Given the description of an element on the screen output the (x, y) to click on. 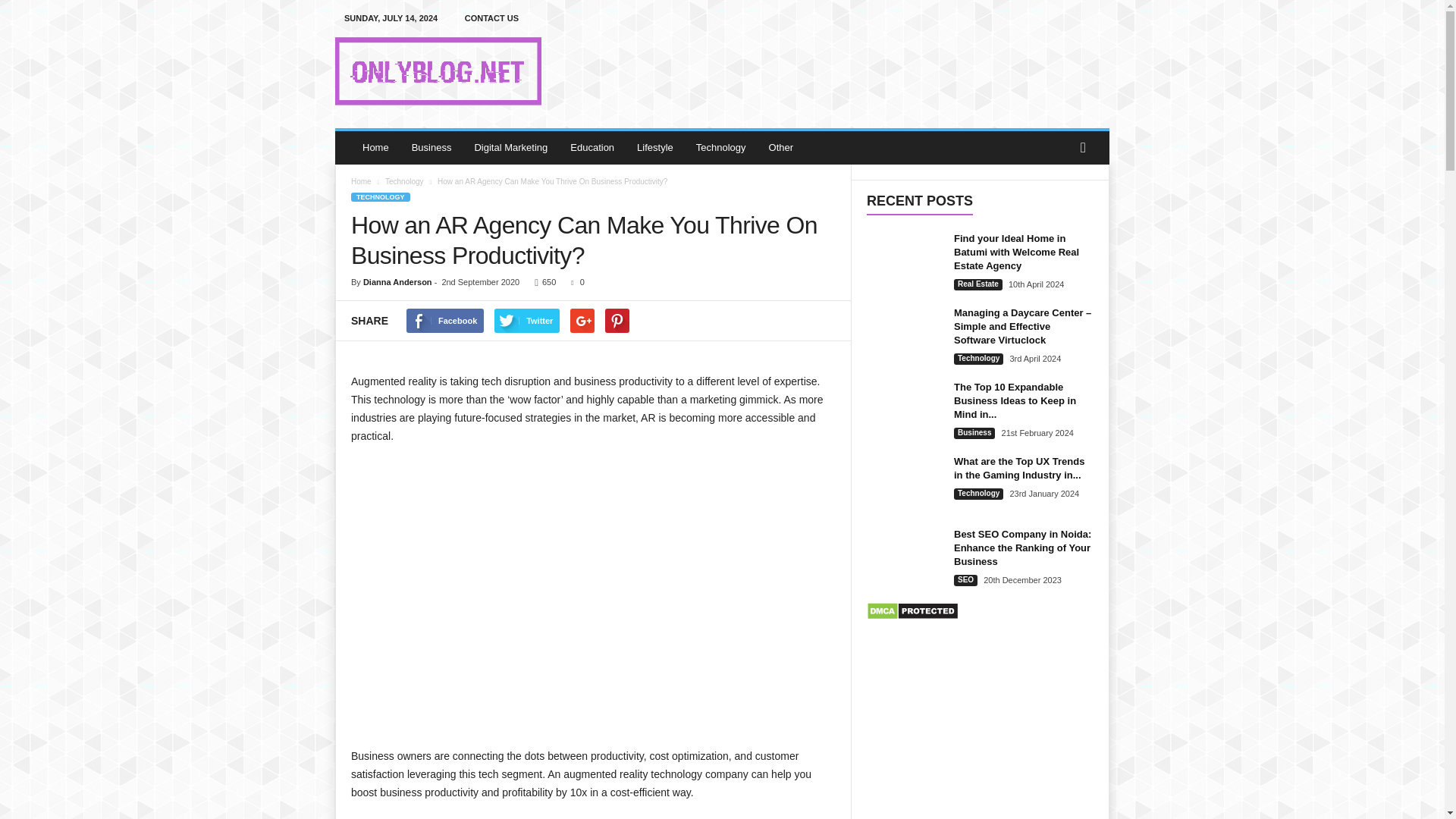
View all posts in Technology (404, 181)
The Top 10 Expandable Business Ideas to Keep in Mind in 2024 (904, 408)
CONTACT US (491, 17)
